Given the description of an element on the screen output the (x, y) to click on. 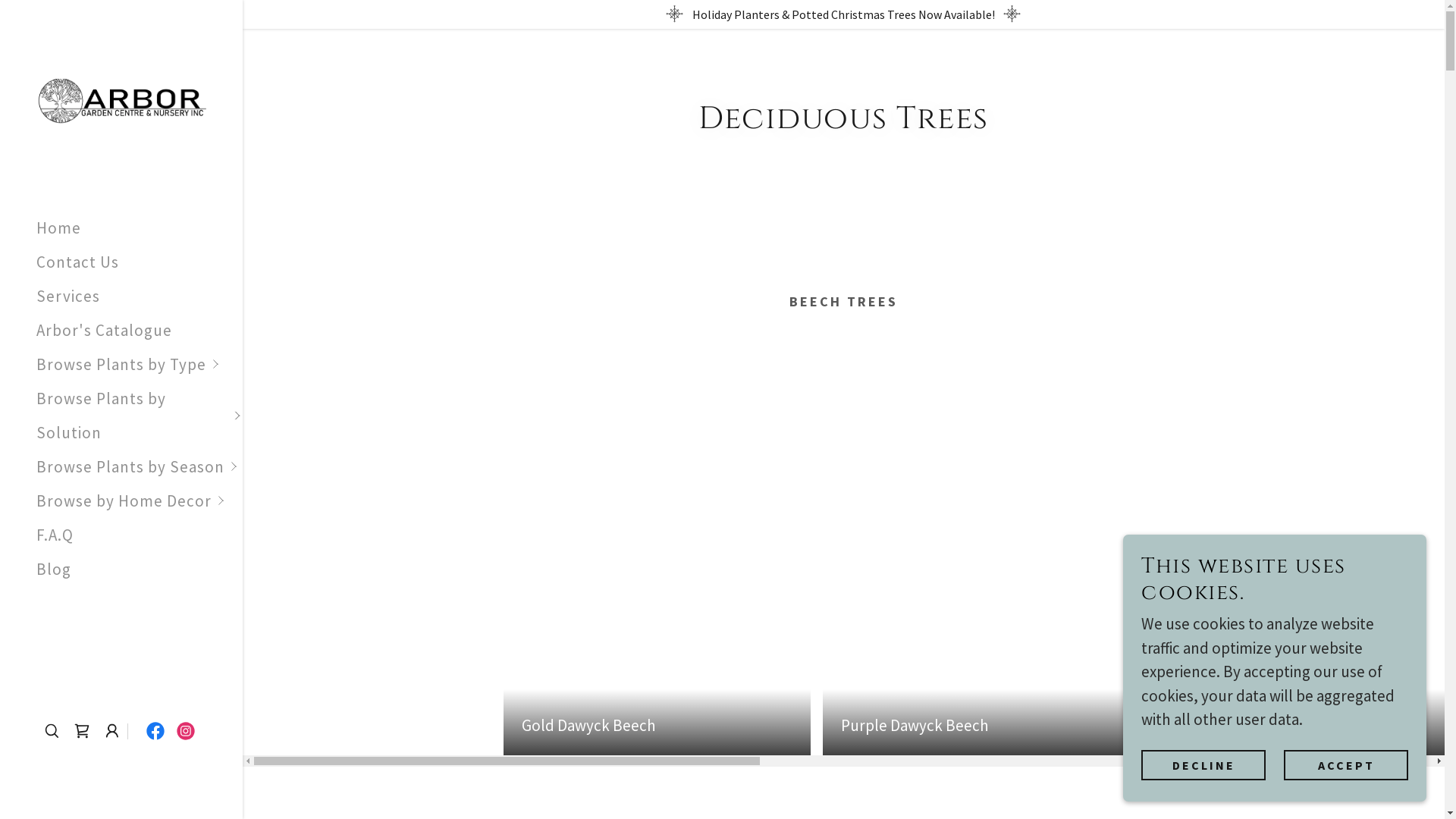
Contact Us Element type: text (77, 261)
F.A.Q Element type: text (54, 534)
Blog Element type: text (53, 568)
Arbor's Catalogue Element type: text (104, 330)
Arbor Garden Centre and Nursery Element type: hover (121, 101)
Services Element type: text (68, 295)
Browse Plants by Type Element type: text (139, 364)
Browse Plants by Season Element type: text (139, 466)
Browse by Home Decor Element type: text (139, 500)
Holiday Planters & Potted Christmas Trees Now Available! Element type: text (843, 14)
DECLINE Element type: text (1203, 764)
Home Element type: text (58, 227)
Browse Plants by Solution Element type: text (139, 415)
ACCEPT Element type: text (1345, 764)
